Given the description of an element on the screen output the (x, y) to click on. 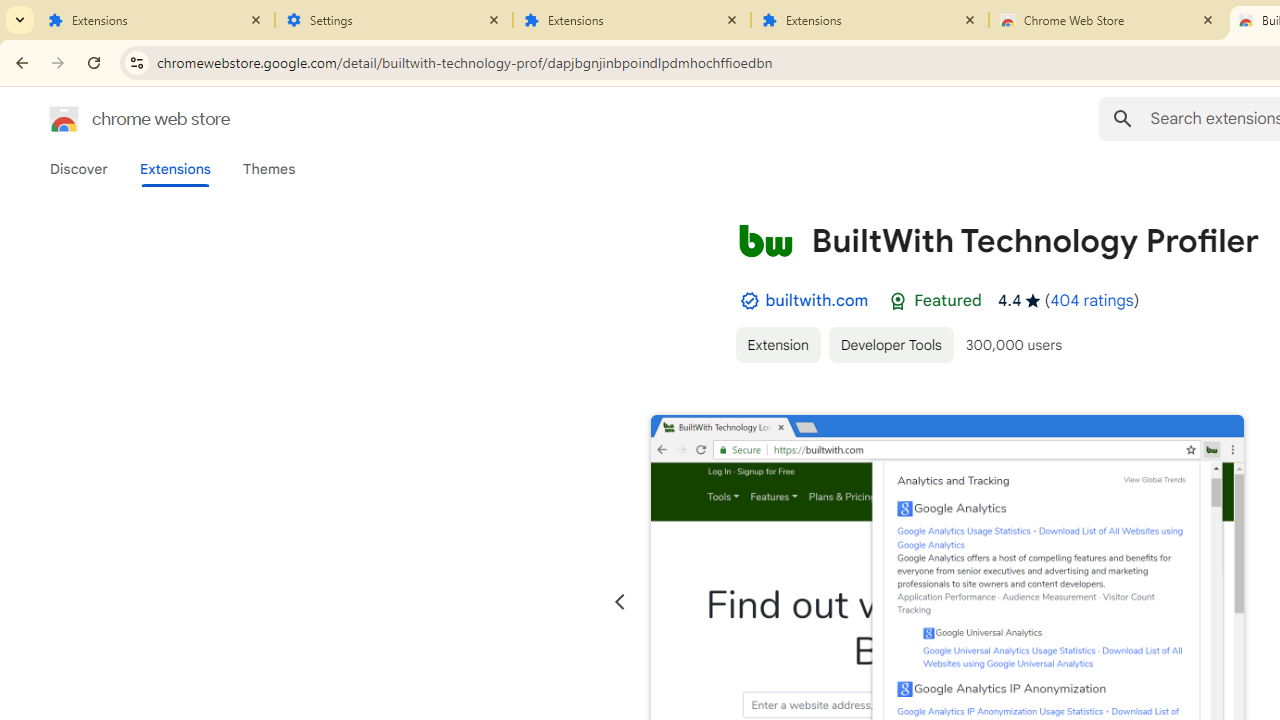
Extension (777, 344)
Discover (79, 169)
Featured Badge (898, 301)
Chrome Web Store logo chrome web store (118, 118)
Developer Tools (890, 344)
Extensions (870, 20)
Themes (269, 169)
